Given the description of an element on the screen output the (x, y) to click on. 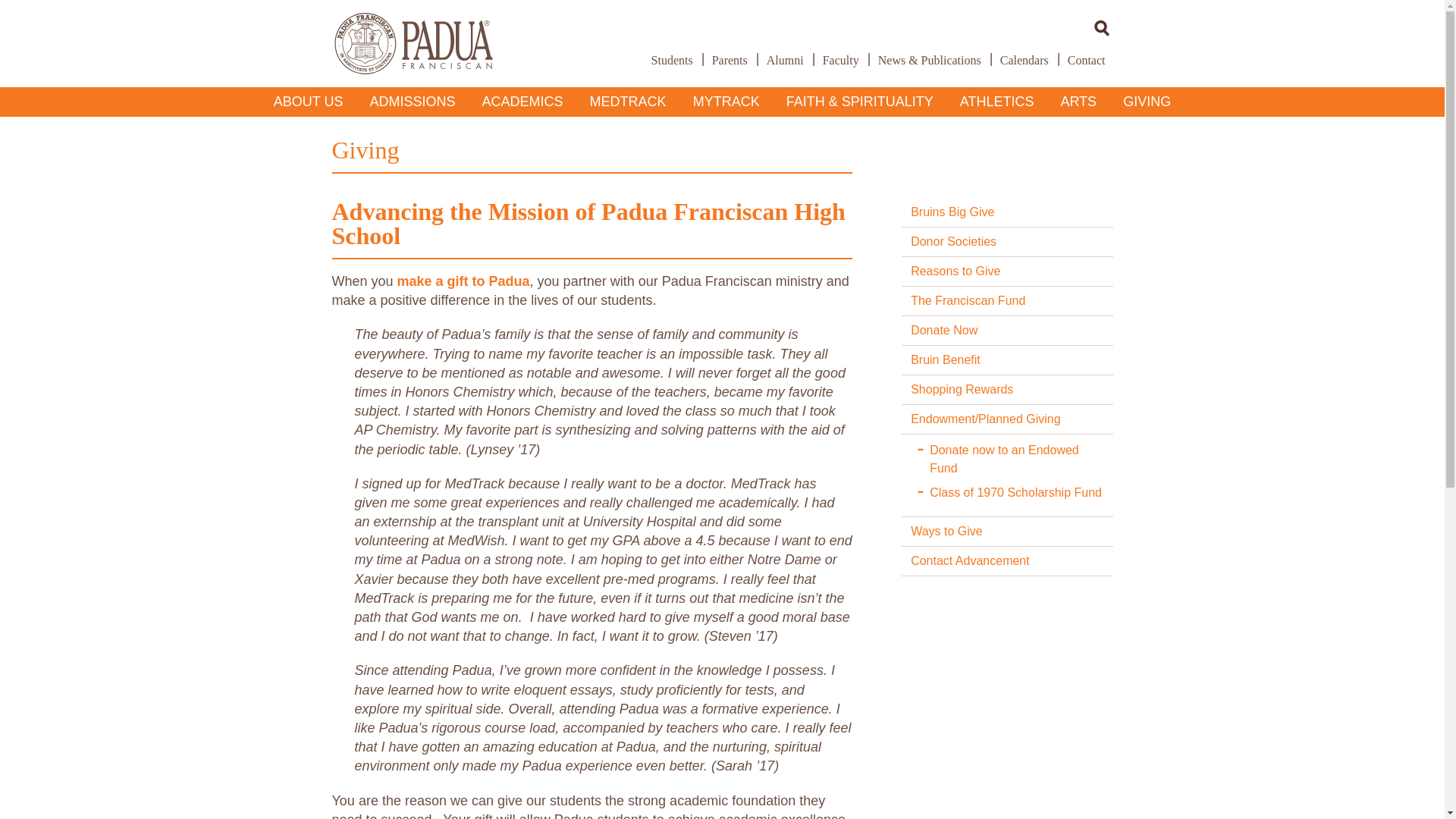
Search (1101, 27)
Alumni (784, 59)
Parents (729, 59)
Search (1101, 27)
make a gift to Padua (463, 281)
Search (1101, 27)
Students (671, 59)
